Given the description of an element on the screen output the (x, y) to click on. 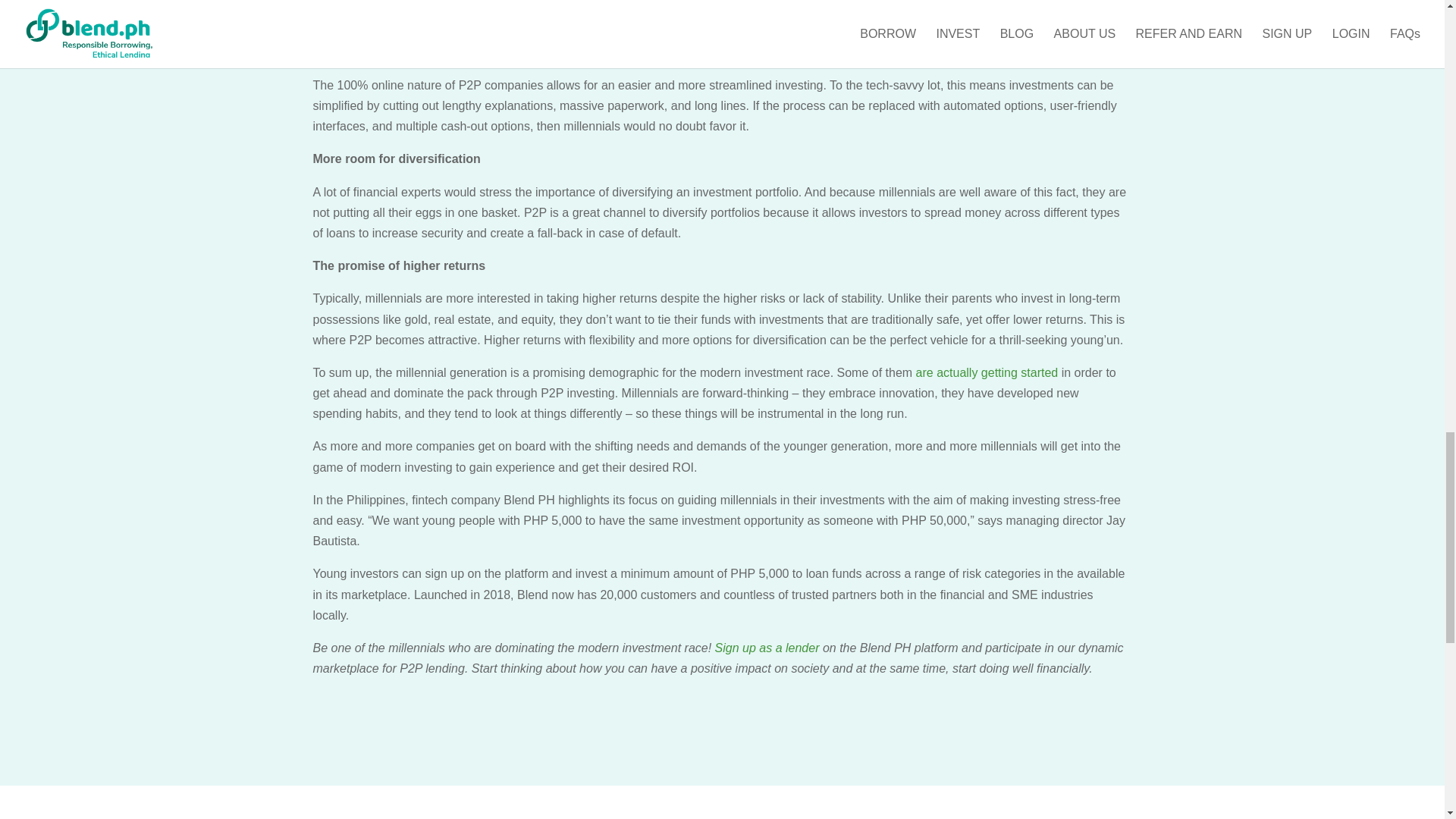
Sign up as a lender (766, 647)
are actually getting started (986, 372)
